Given the description of an element on the screen output the (x, y) to click on. 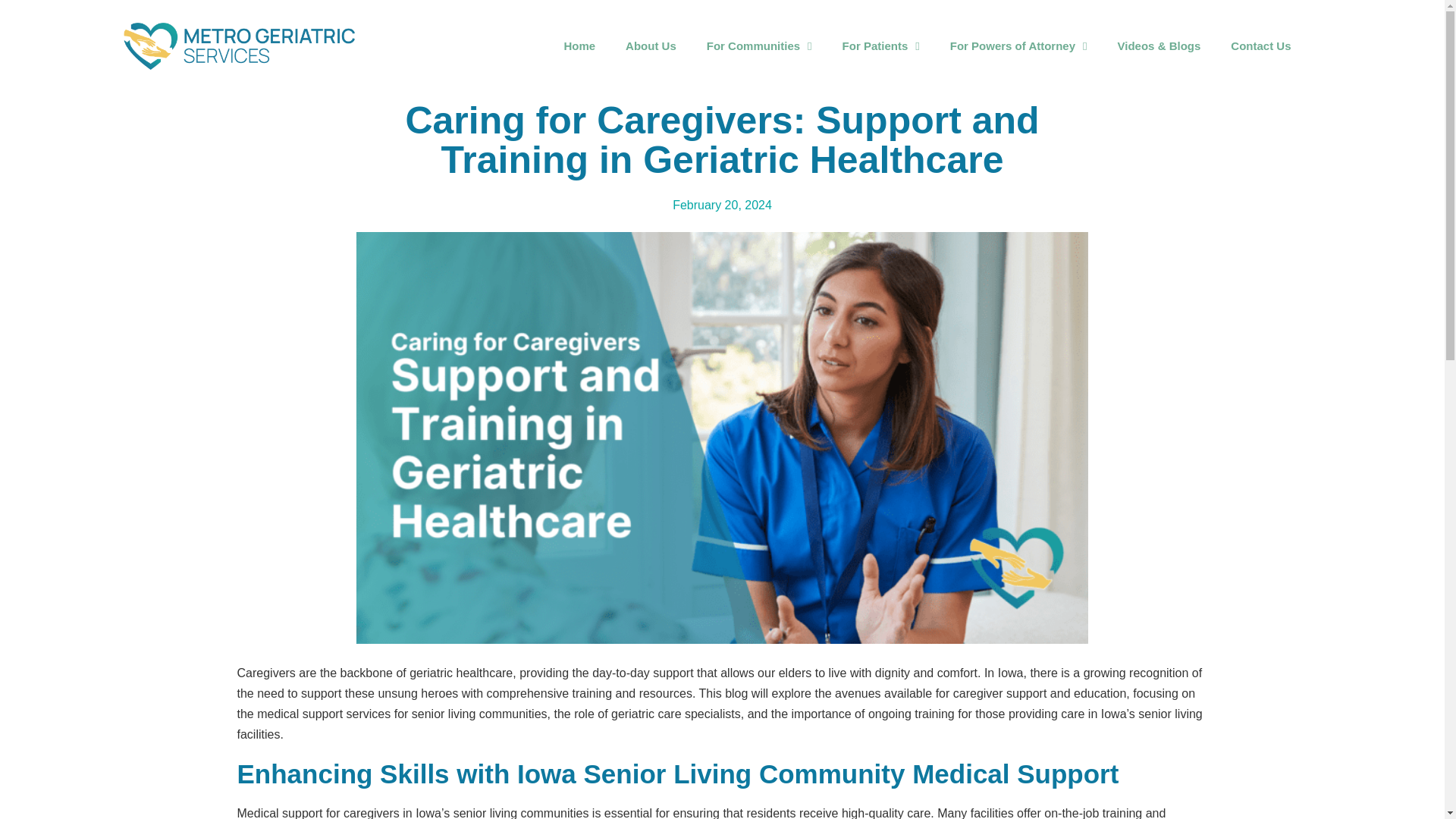
For Communities (759, 46)
For Powers of Attorney (1018, 46)
For Patients (881, 46)
Home (579, 46)
Contact Us (1260, 46)
About Us (651, 46)
